Given the description of an element on the screen output the (x, y) to click on. 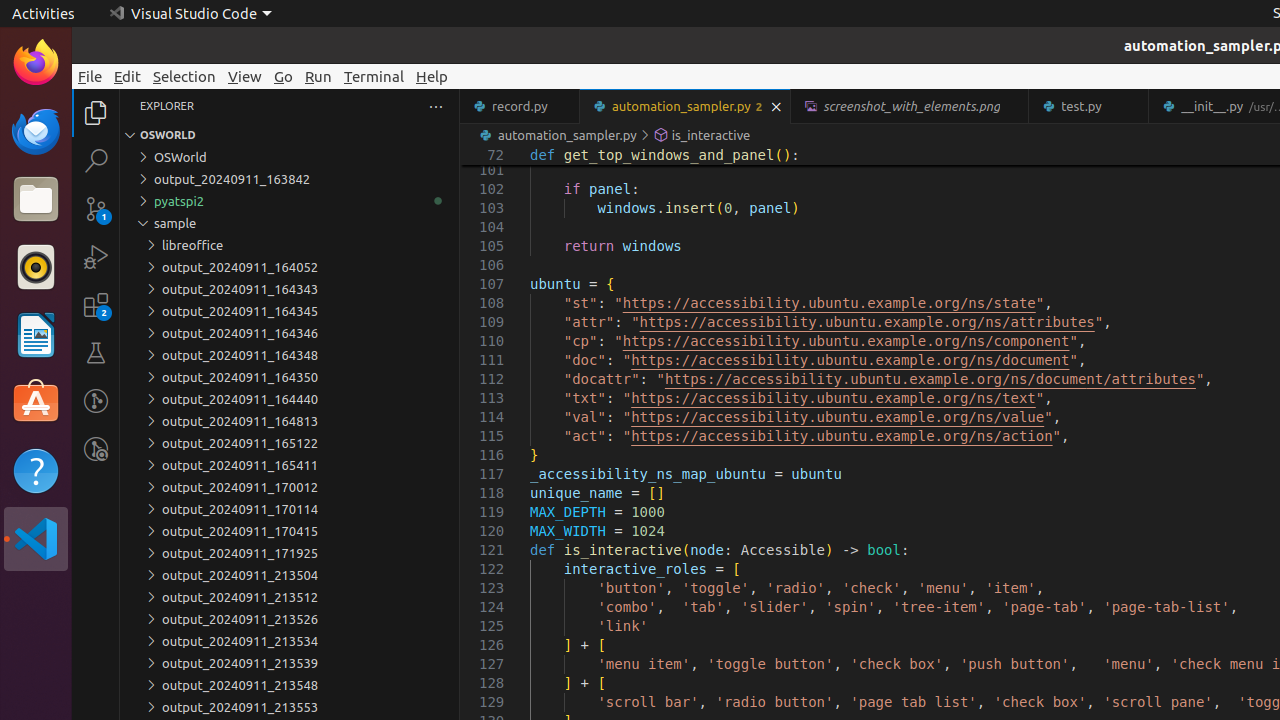
pyatspi2 Element type: tree-item (289, 201)
Run Element type: push-button (318, 76)
output_20240911_164346 Element type: tree-item (289, 333)
sample Element type: tree-item (289, 223)
